Given the description of an element on the screen output the (x, y) to click on. 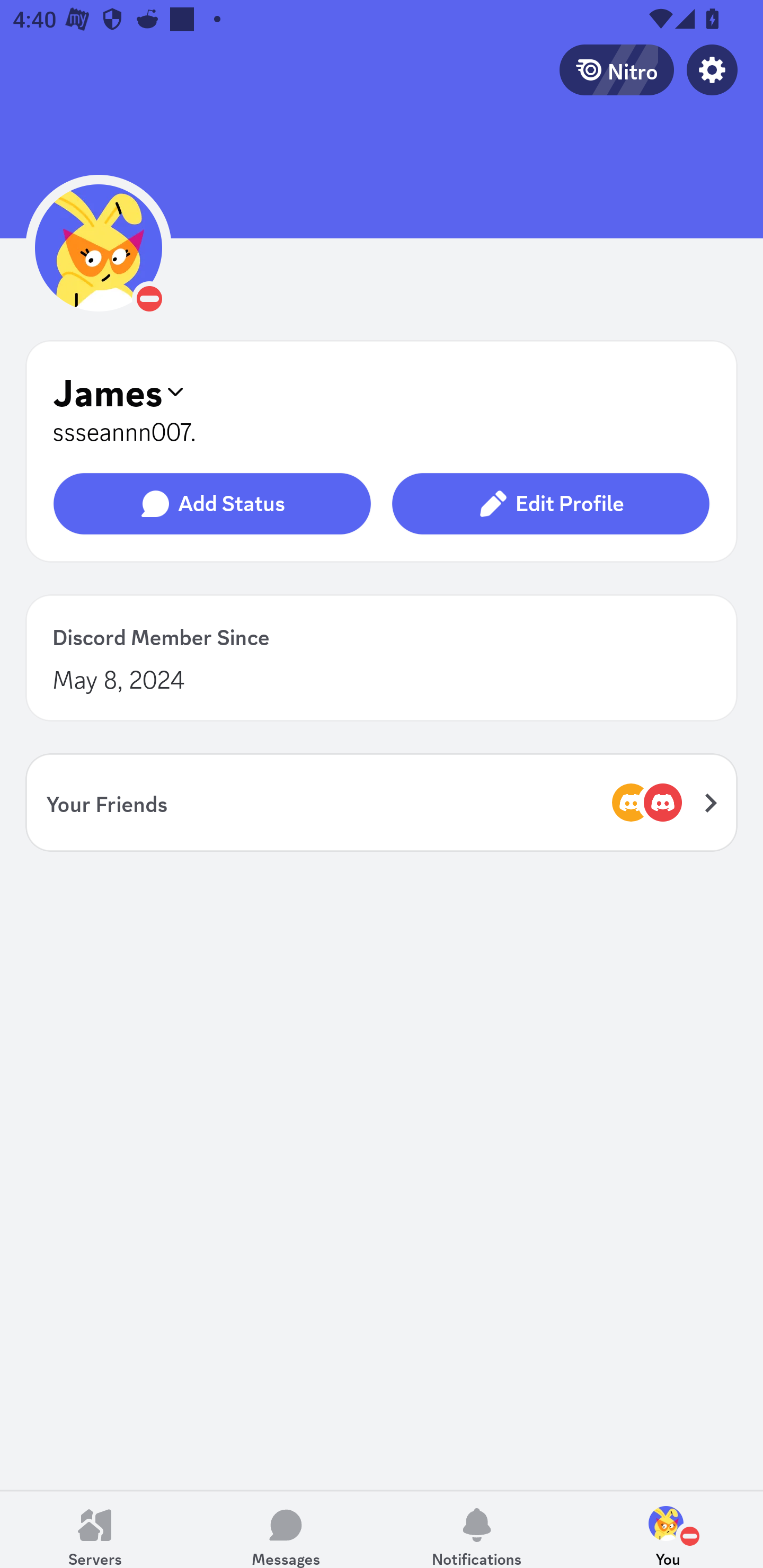
Nitro (616, 69)
Settings (711, 69)
James (381, 390)
Add Status (212, 503)
Edit Profile (550, 503)
Your Friends (381, 801)
Servers (95, 1529)
Messages (285, 1529)
Notifications (476, 1529)
You (667, 1529)
